Given the description of an element on the screen output the (x, y) to click on. 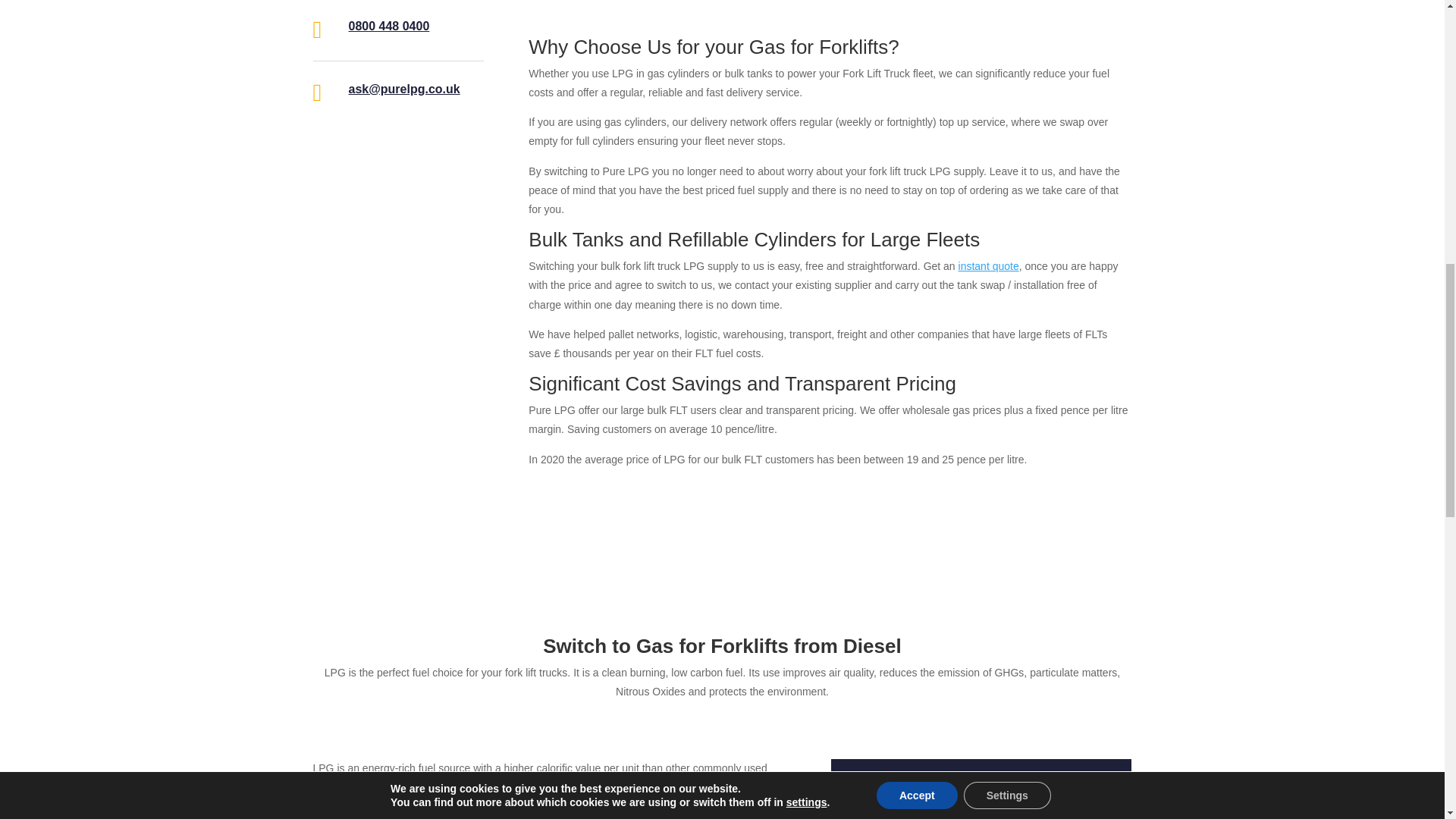
instant quote (988, 265)
0800 448 0400 (389, 25)
